Given the description of an element on the screen output the (x, y) to click on. 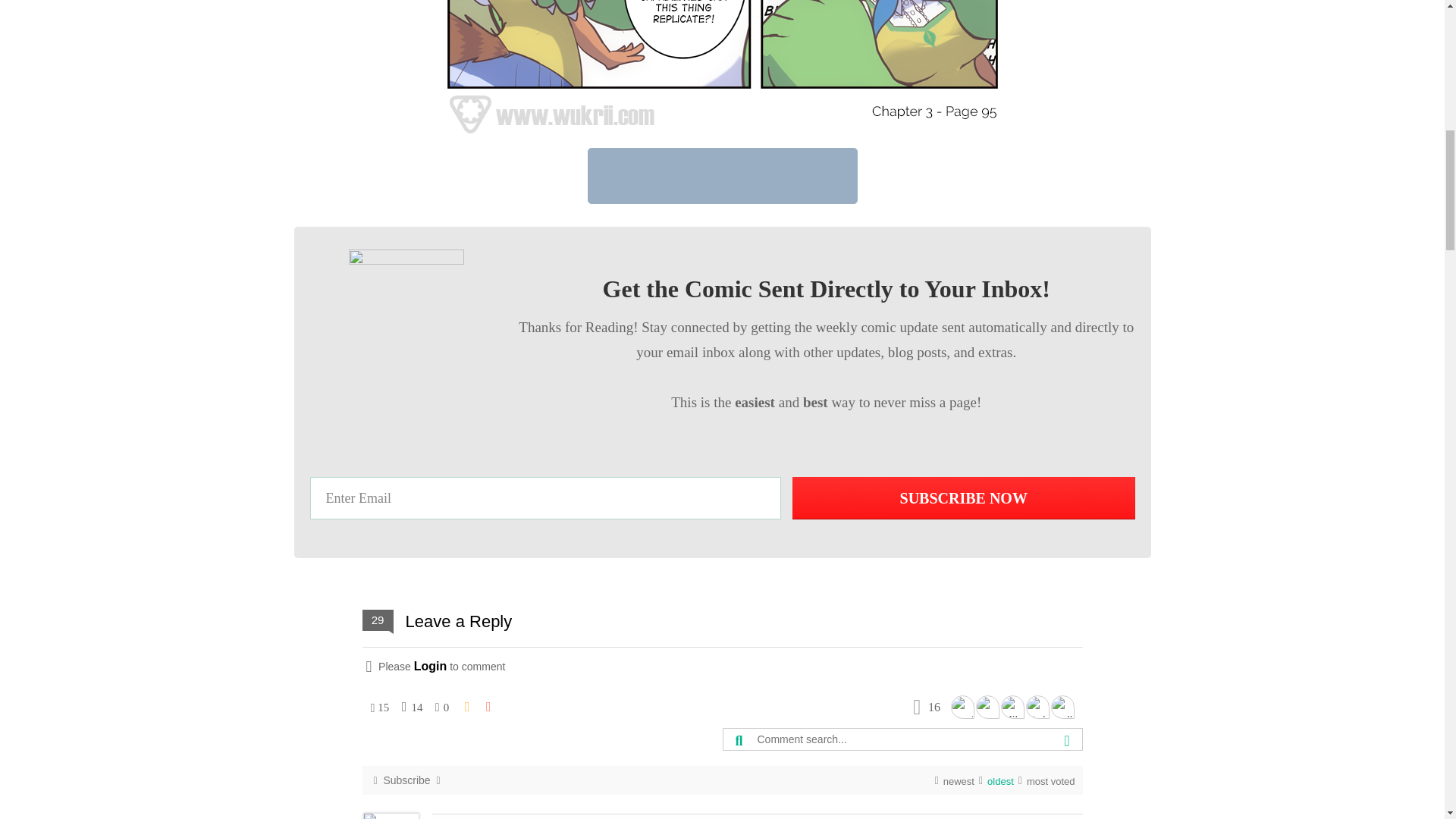
MikeonaRock (1013, 707)
Login (429, 666)
Drakara (962, 707)
SUBSCRIBE NOW (963, 497)
ColdFusion (1036, 707)
Lagoloid (986, 707)
SallyVixen24 (1062, 707)
